Given the description of an element on the screen output the (x, y) to click on. 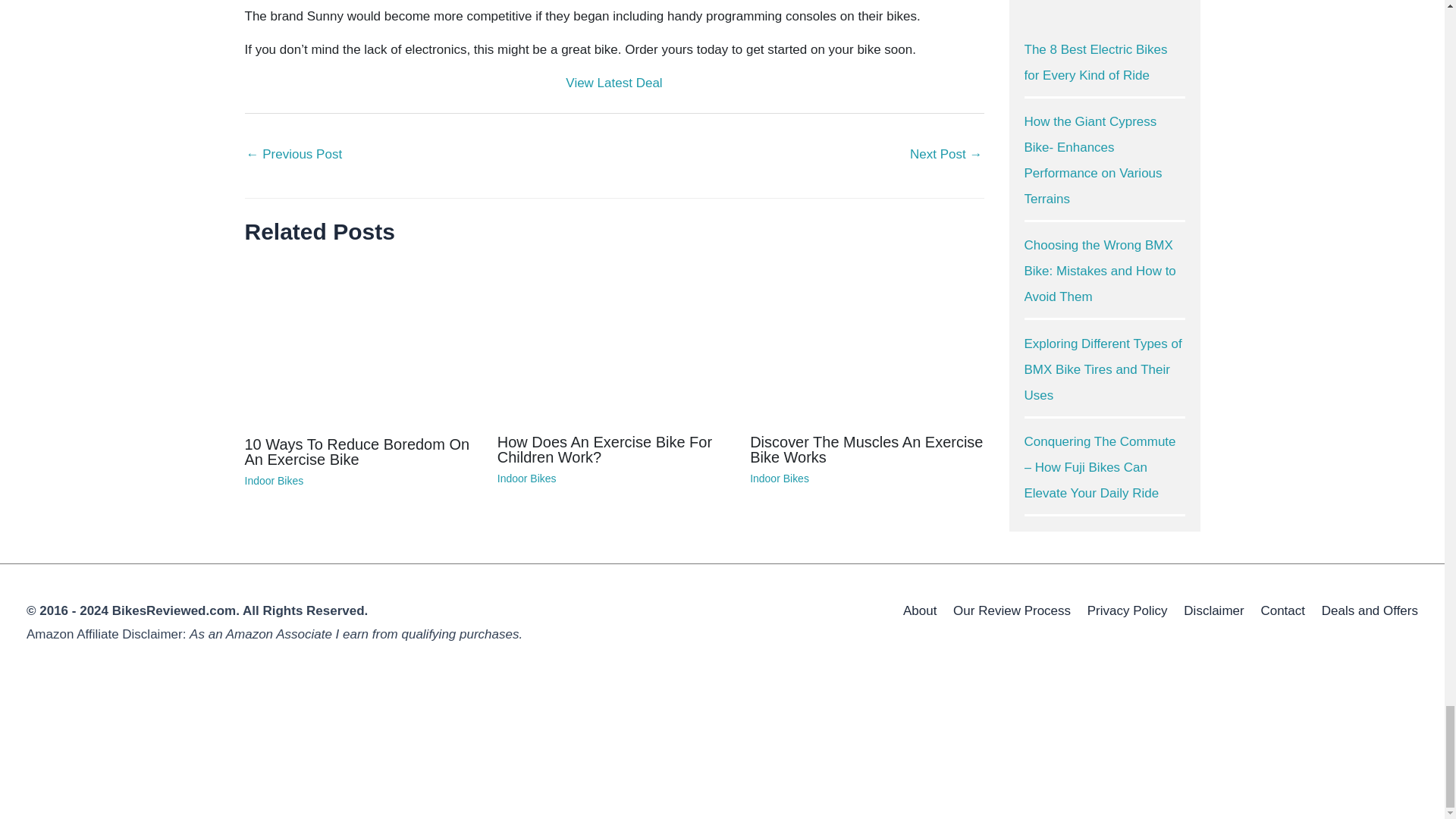
Bladez Fitness Fusion GS II Review (294, 155)
View Latest Deal (614, 83)
DMCA.com Protection Status (139, 726)
Schwinn AC Performance Plus Indoor Cycle Review (945, 155)
